Given the description of an element on the screen output the (x, y) to click on. 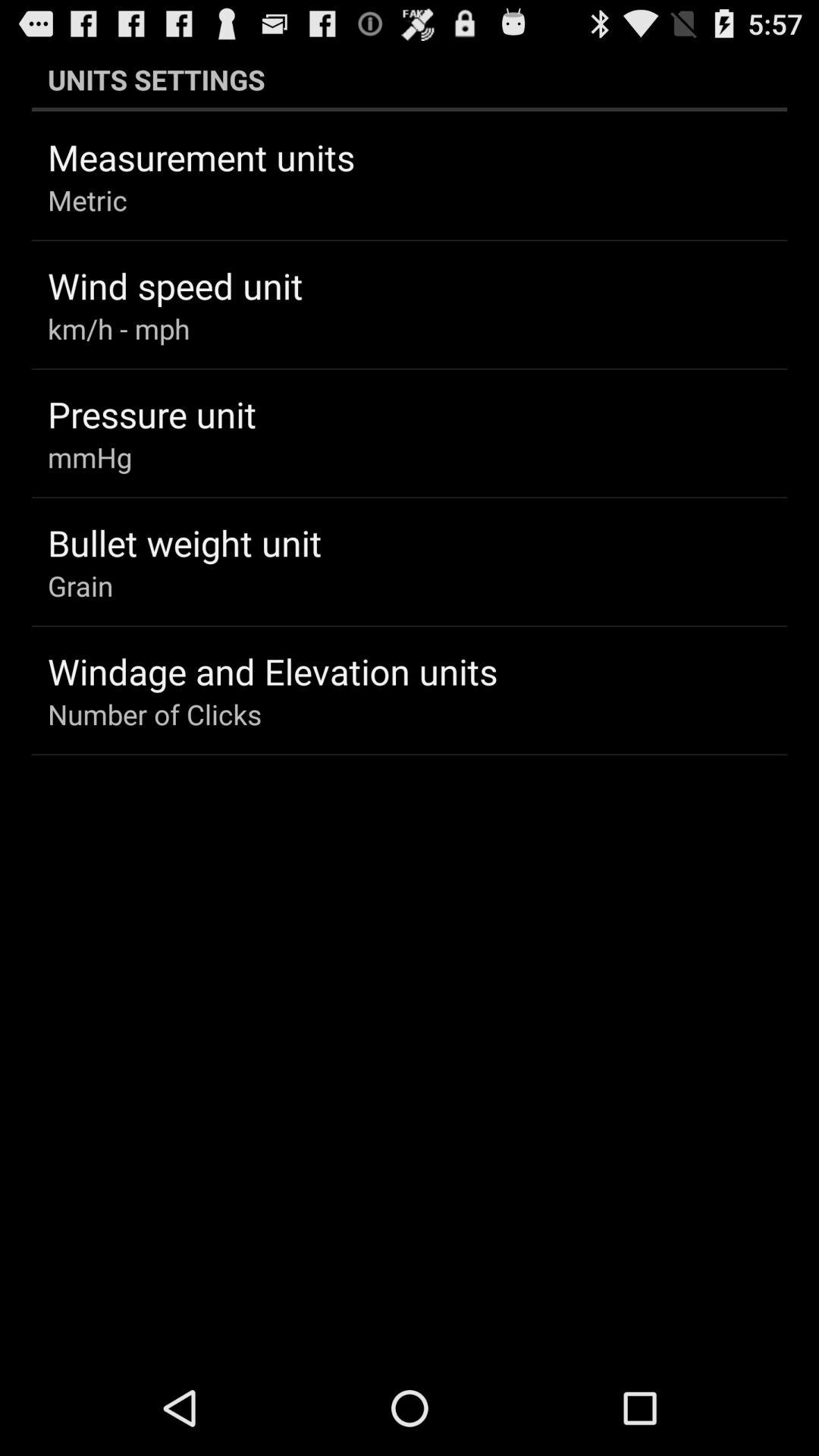
scroll to the pressure unit app (151, 414)
